Given the description of an element on the screen output the (x, y) to click on. 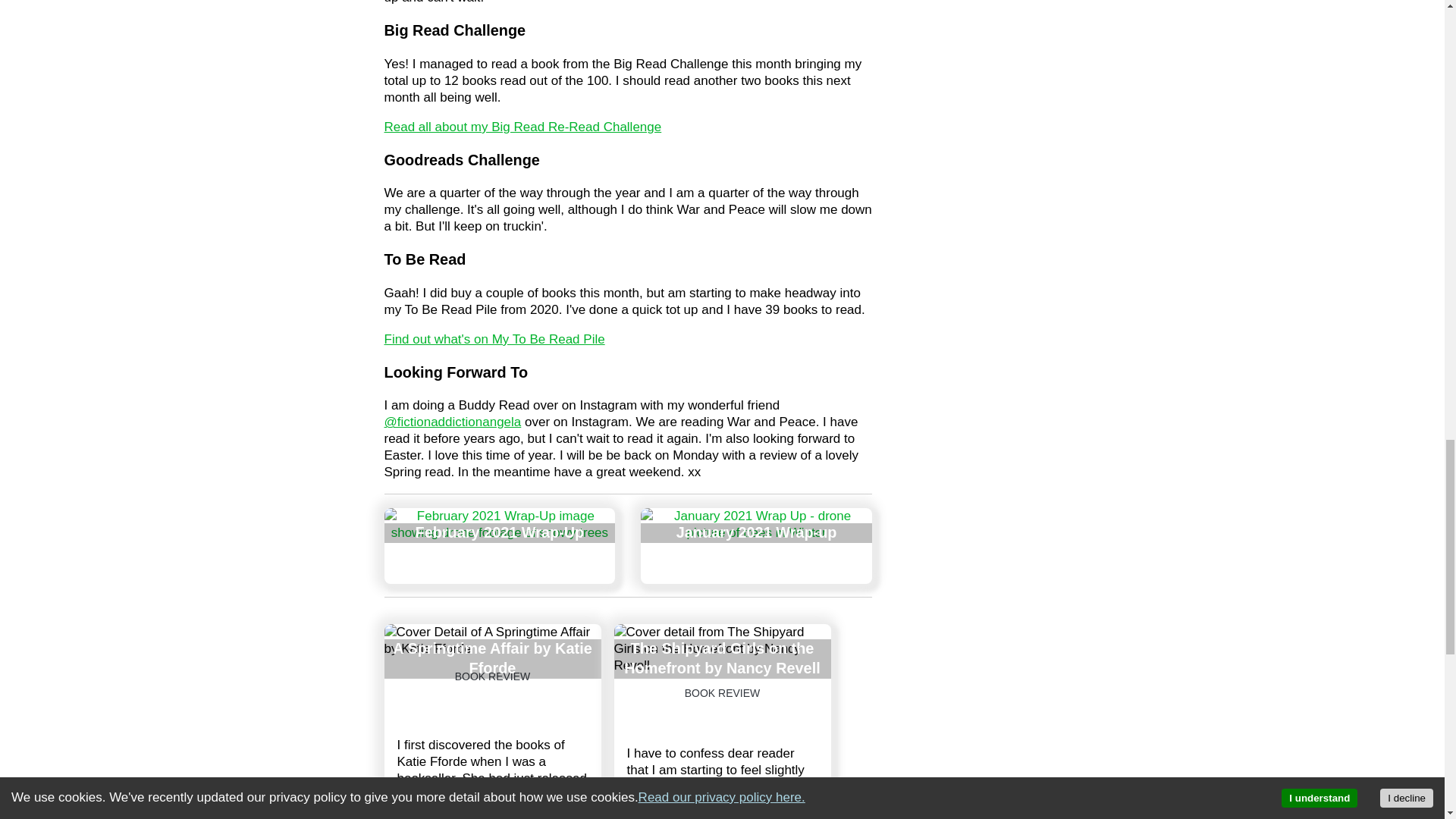
Find out what's on My To Be Read Pile (494, 339)
Read all about my Big Read Re-Read Challenge (522, 126)
January 2021 Wrap-up (756, 545)
February 2021 Wrap-Up (499, 545)
